Given the description of an element on the screen output the (x, y) to click on. 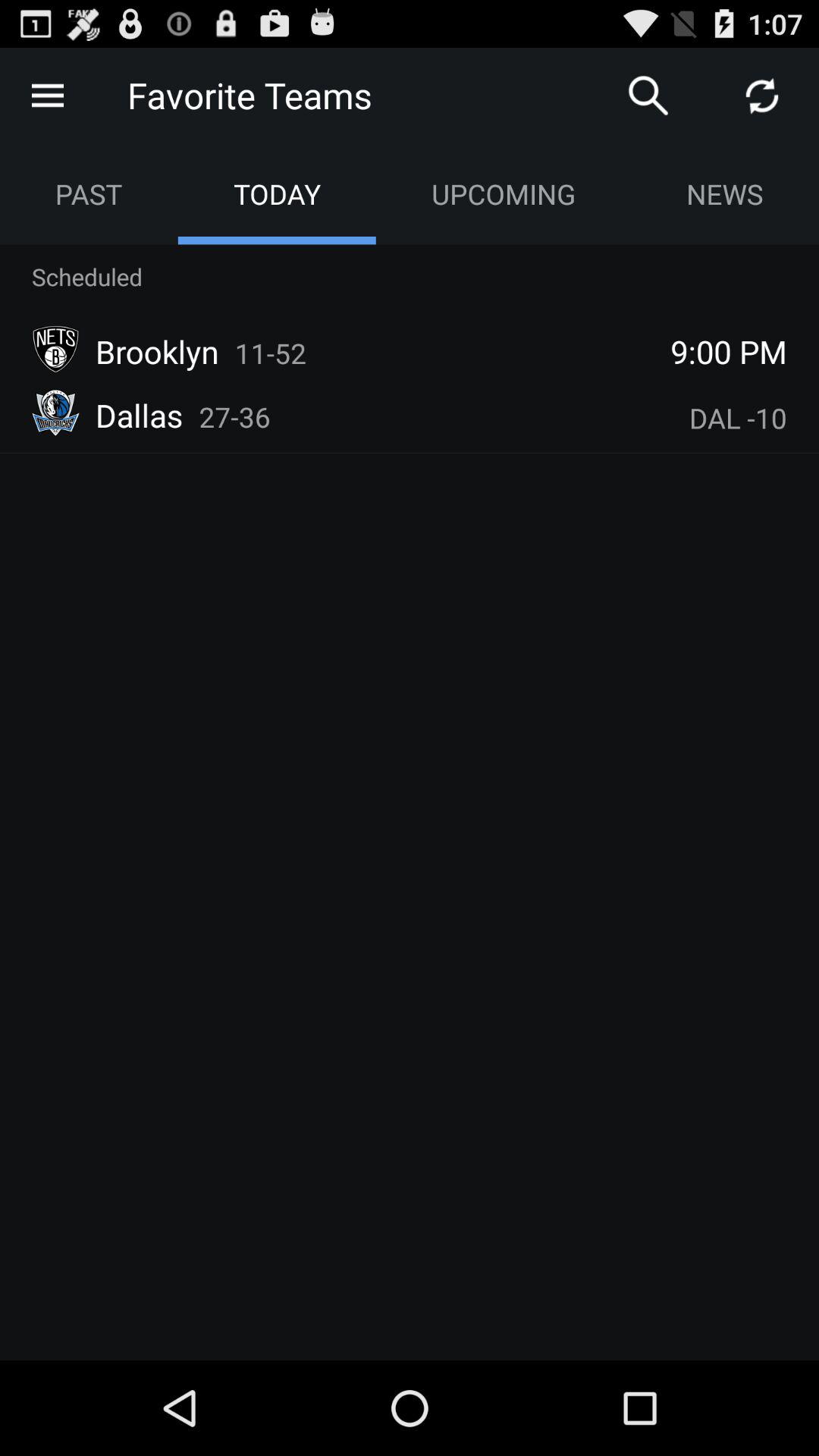
tap the app below the news item (728, 351)
